Given the description of an element on the screen output the (x, y) to click on. 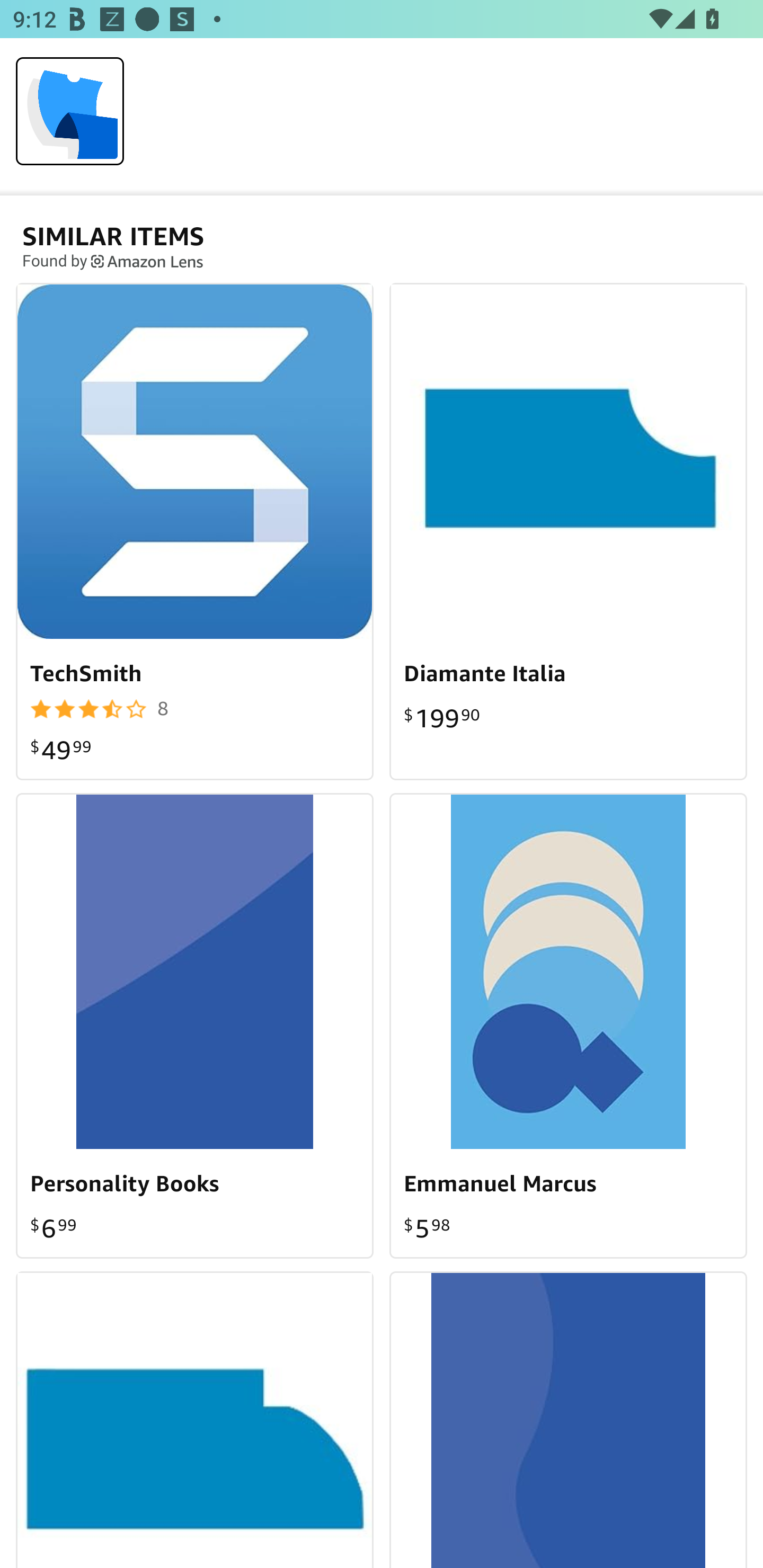
TechSmith 8 $ 49 99 (194, 531)
Diamante Italia $ 199 90 (567, 531)
Personality Books $ 6 99 (194, 1026)
Emmanuel Marcus $ 5 98 (567, 1026)
